Given the description of an element on the screen output the (x, y) to click on. 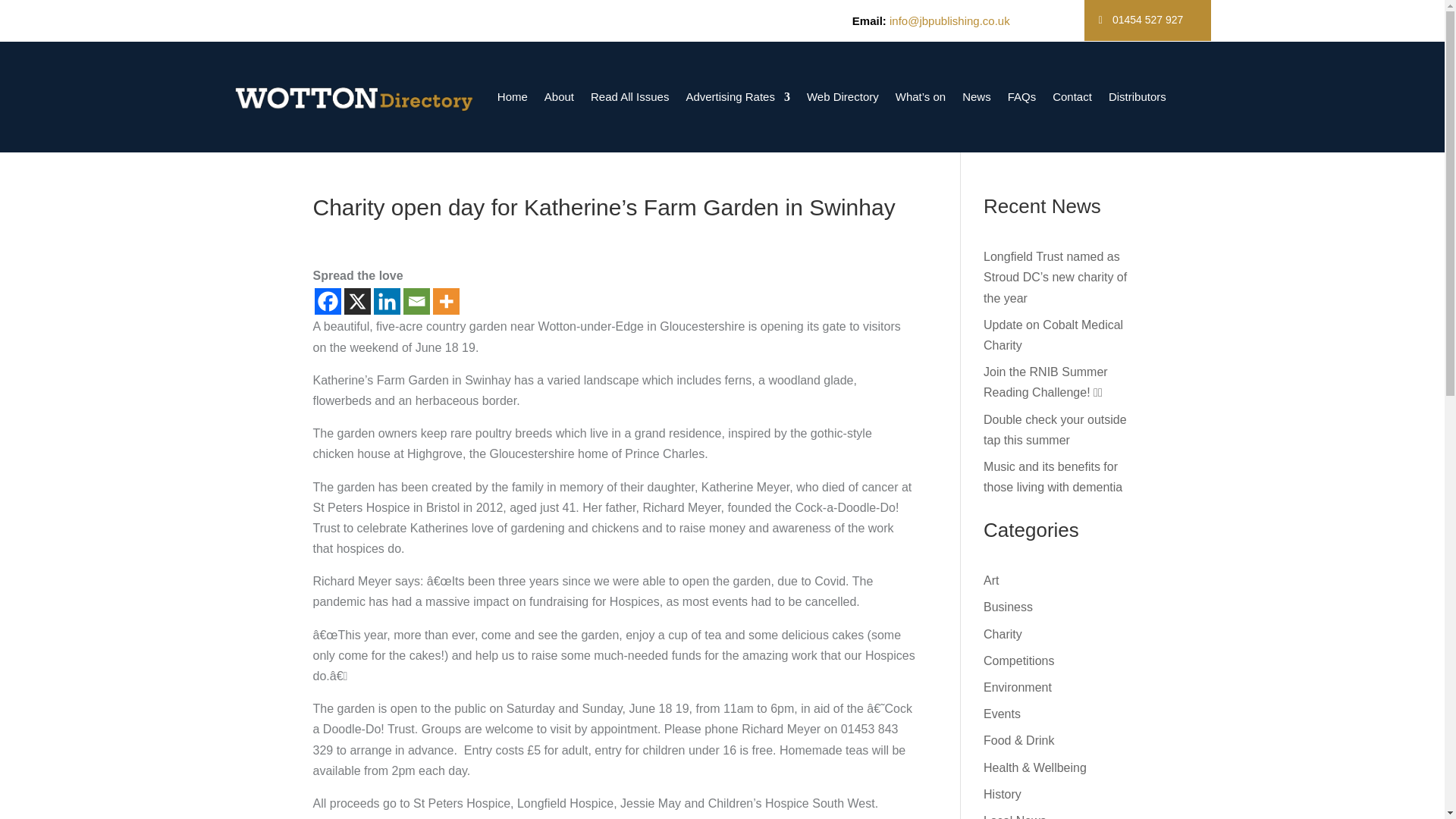
Advertising Rates (737, 96)
Distributors (1137, 96)
Facebook (327, 301)
01454 527 927 (1147, 20)
Read All Issues (629, 96)
X (357, 301)
Linkedin (385, 301)
Web Directory (842, 96)
Email (416, 301)
More (445, 301)
